Given the description of an element on the screen output the (x, y) to click on. 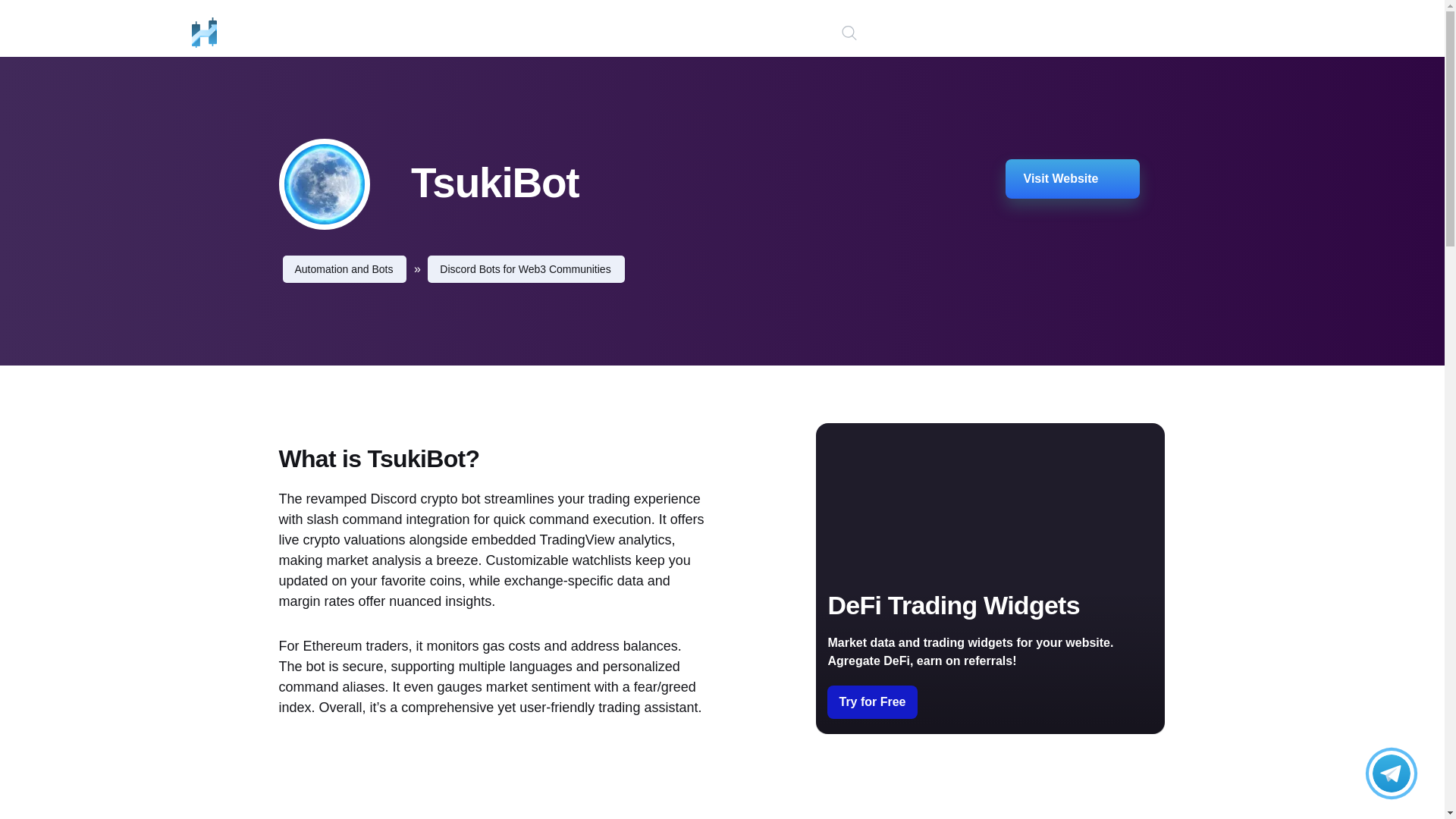
Products (437, 32)
Discord Bots for Web3 Communities (526, 268)
Launch App (1205, 33)
Visit Website (1073, 178)
Search (16, 16)
Try for Free (872, 702)
Community (533, 32)
Automation and Bots (344, 268)
Markets (353, 32)
